Given the description of an element on the screen output the (x, y) to click on. 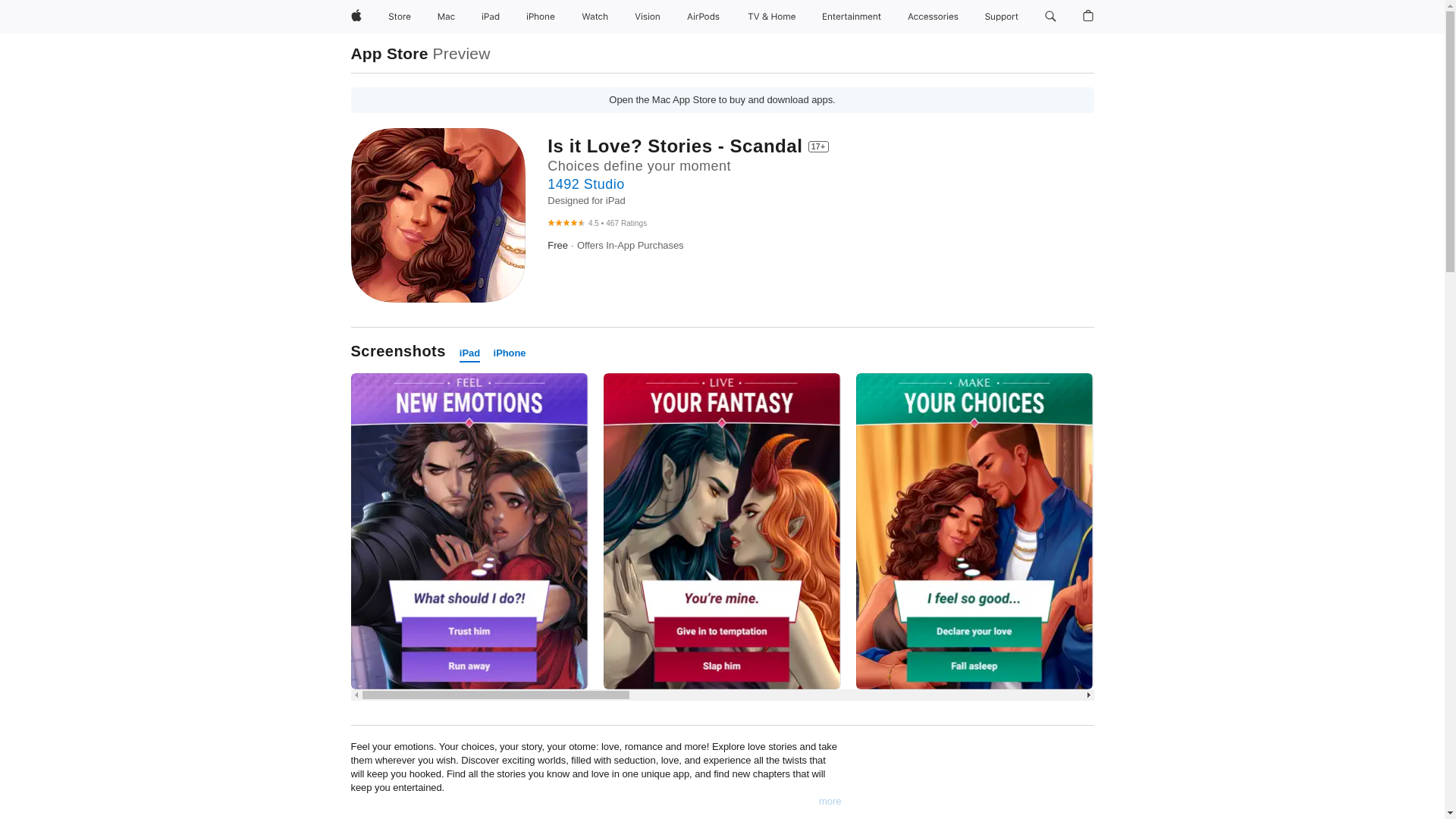
Store (398, 16)
